Given the description of an element on the screen output the (x, y) to click on. 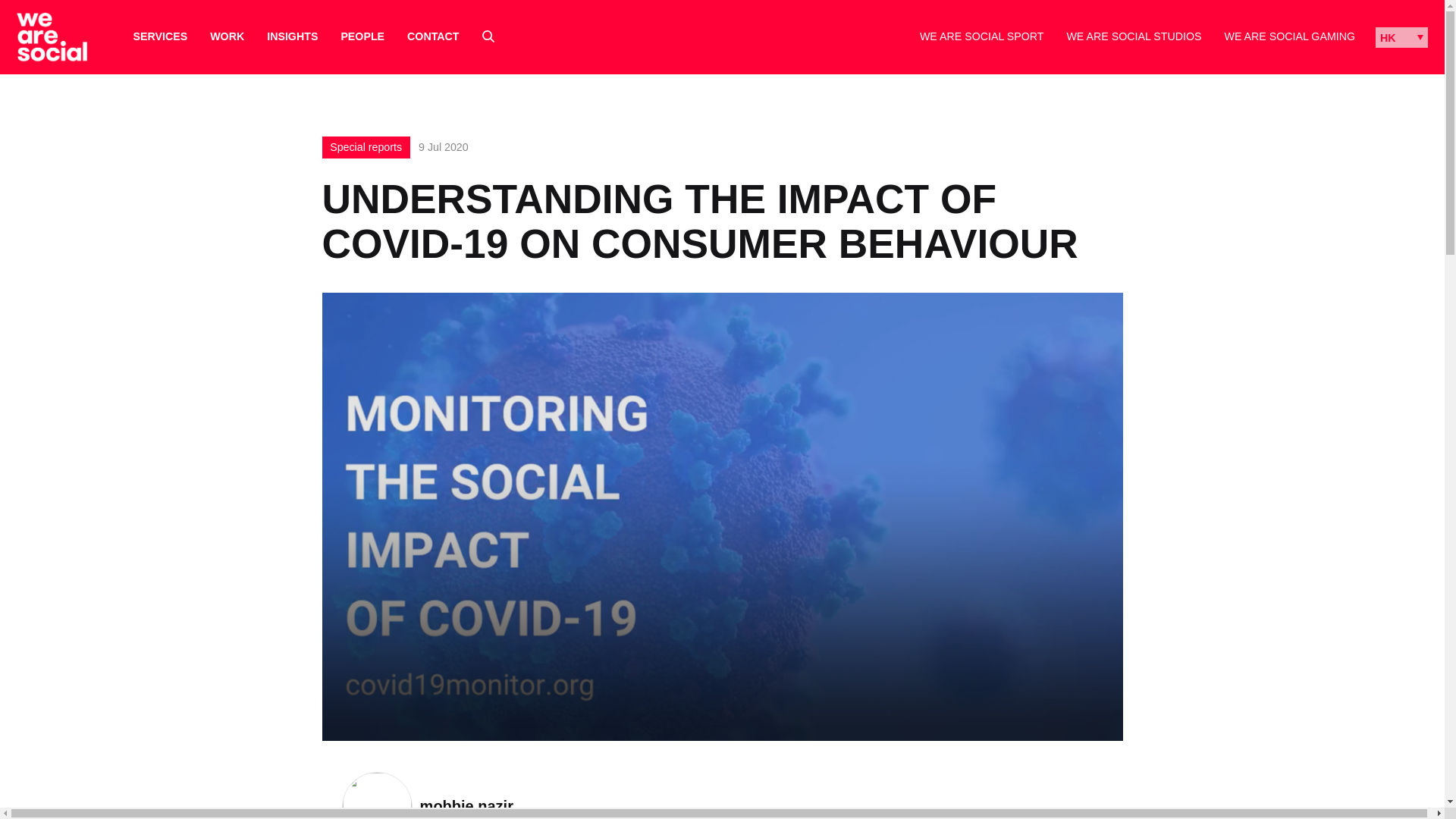
Work (226, 36)
PEOPLE (362, 36)
Select to toggle search form (488, 36)
WE ARE SOCIAL SPORT (981, 36)
We Are Social Studios (1133, 36)
SERVICES (160, 36)
CONTACT (432, 36)
WORK (226, 36)
WE ARE SOCIAL STUDIOS (1133, 36)
Contact (432, 36)
INSIGHTS (291, 36)
WE ARE SOCIAL GAMING (1289, 36)
Insights (291, 36)
We Are Social Sport (981, 36)
